Given the description of an element on the screen output the (x, y) to click on. 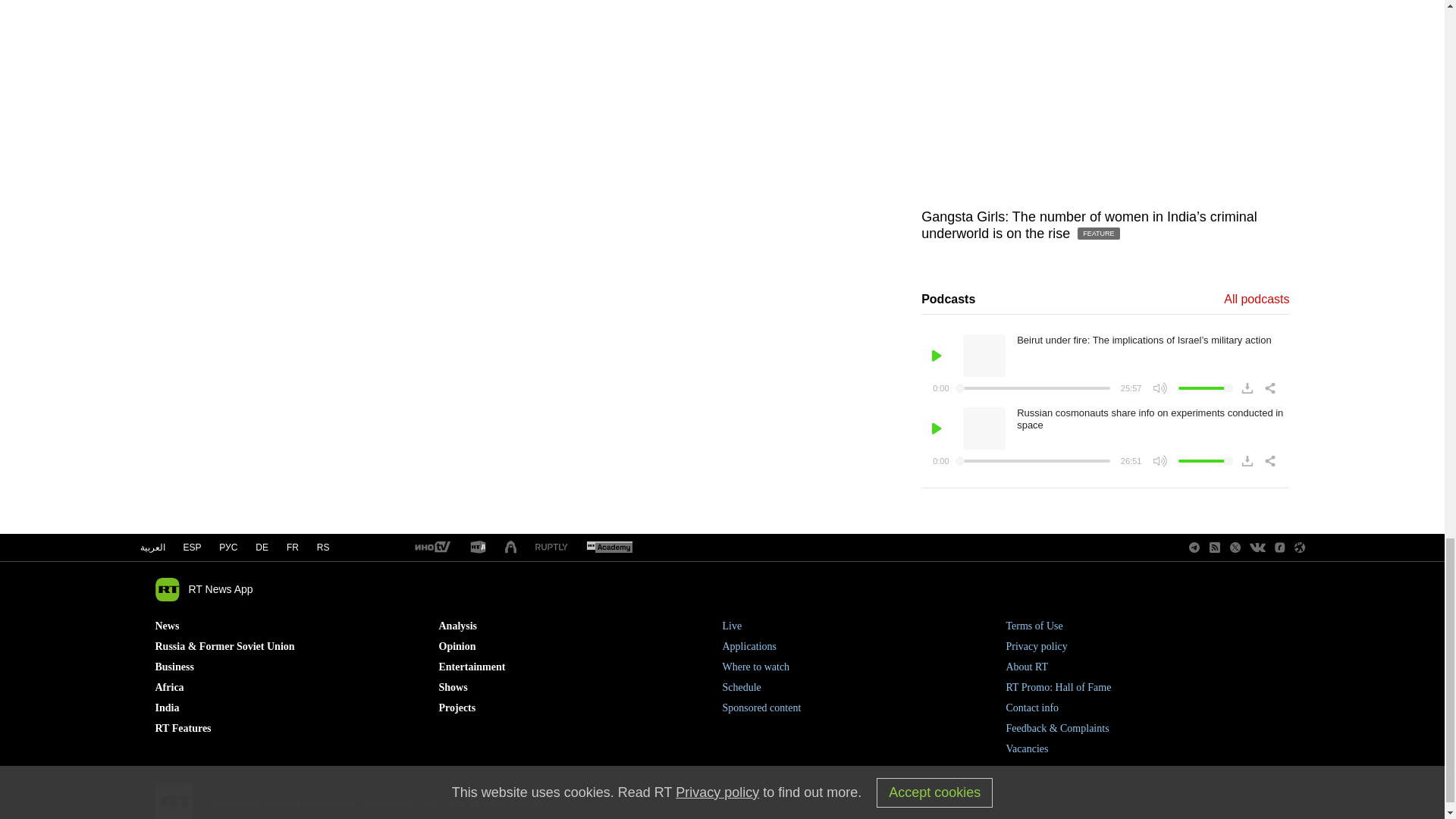
RT  (478, 547)
RT  (551, 547)
RT  (431, 547)
RT  (608, 547)
